Given the description of an element on the screen output the (x, y) to click on. 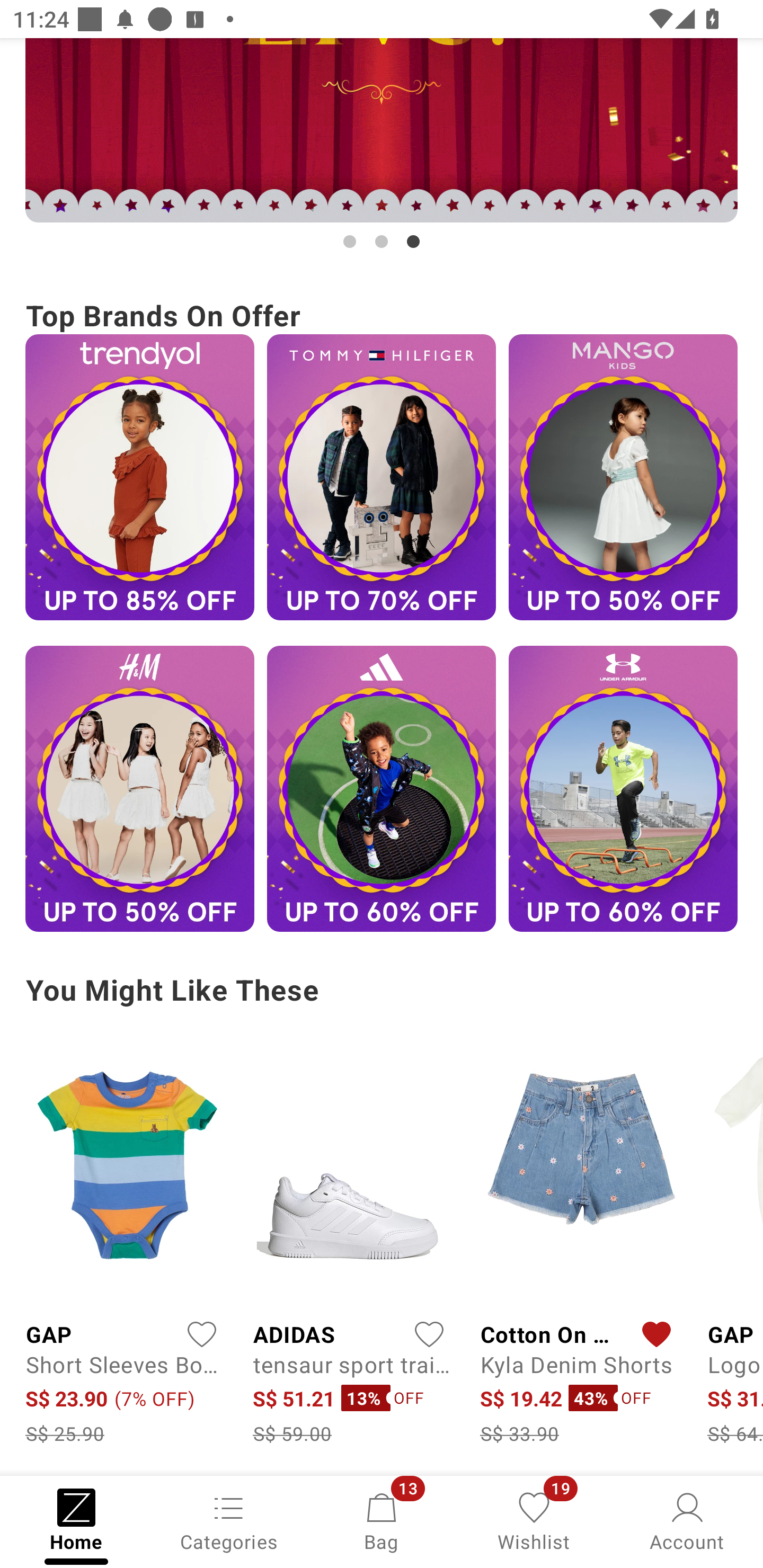
Campaign banner (139, 476)
Campaign banner (381, 476)
Campaign banner (622, 476)
Campaign banner (139, 788)
Campaign banner (381, 788)
Campaign banner (622, 788)
Categories (228, 1519)
Bag, 13 new notifications Bag (381, 1519)
Wishlist, 19 new notifications Wishlist (533, 1519)
Account (686, 1519)
